Given the description of an element on the screen output the (x, y) to click on. 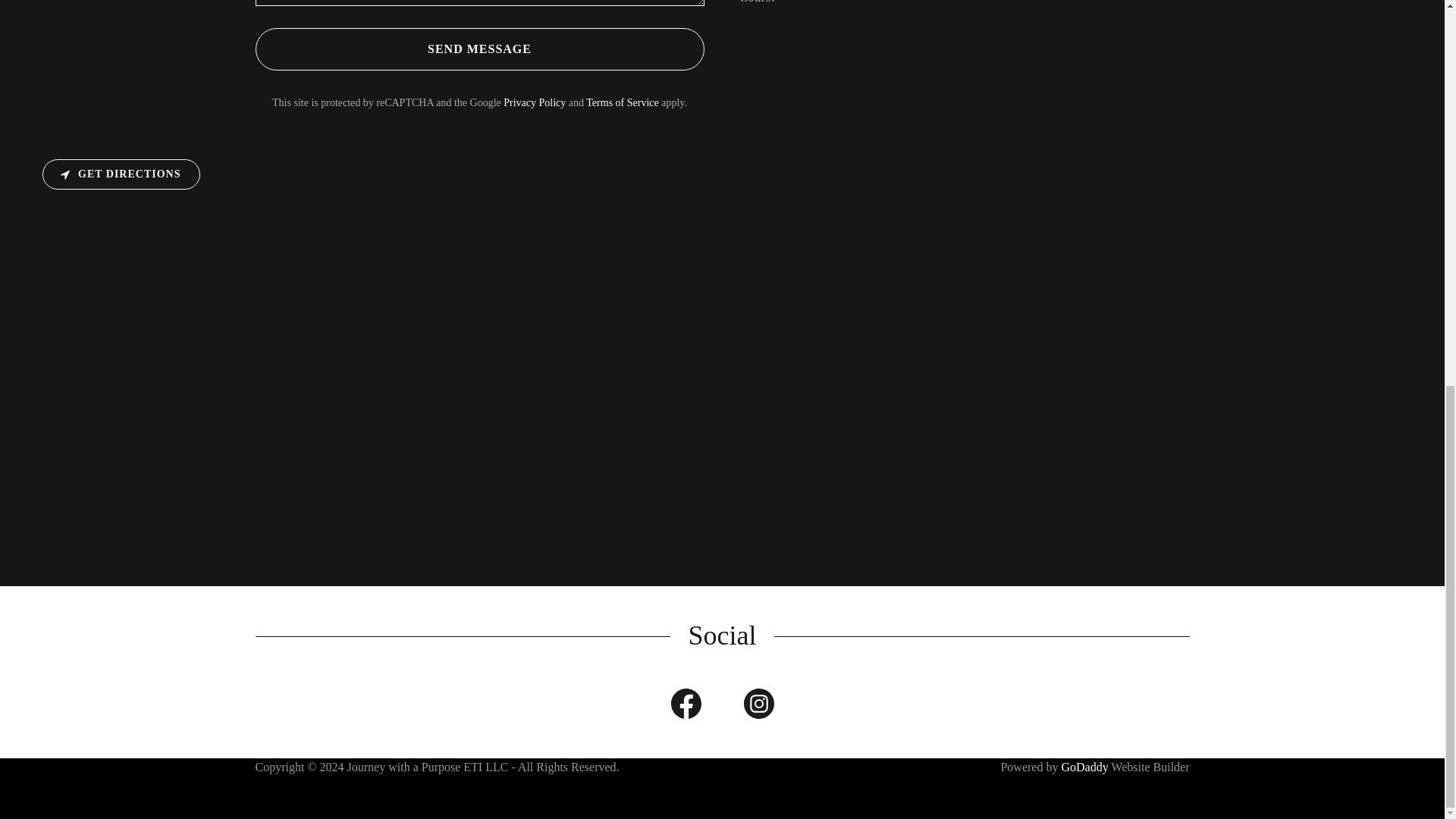
GoDaddy (1084, 766)
Privacy Policy (534, 102)
Terms of Service (622, 102)
SEND MESSAGE (478, 48)
GET DIRECTIONS (121, 173)
